Given the description of an element on the screen output the (x, y) to click on. 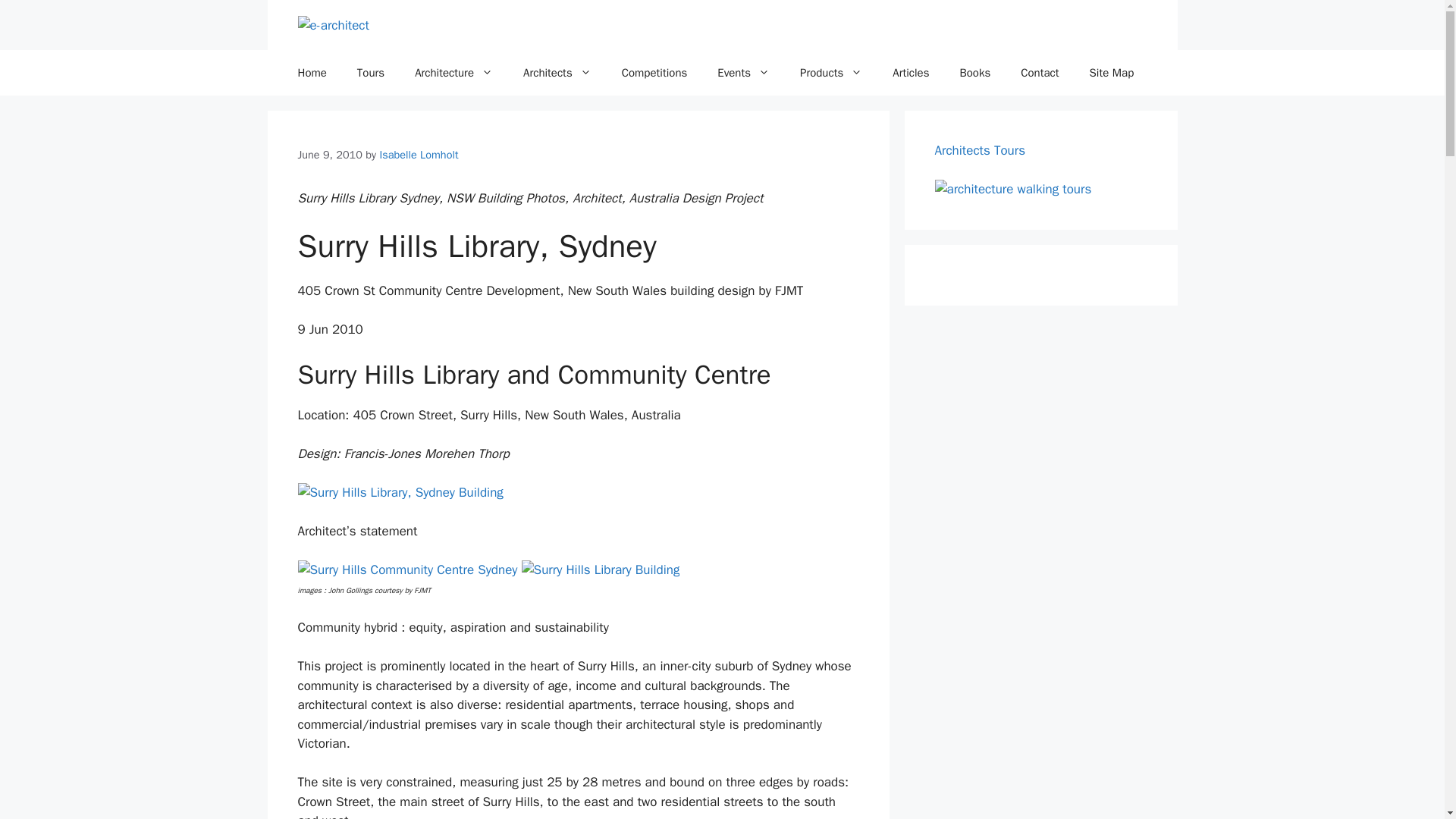
Events (742, 72)
Isabelle Lomholt (418, 154)
Products (830, 72)
Home (311, 72)
Architects (557, 72)
Architecture (453, 72)
Site Map (1112, 72)
Books (974, 72)
Tours (370, 72)
Home (311, 72)
View all posts by Isabelle Lomholt (418, 154)
Competitions (655, 72)
Articles (910, 72)
Contact (1040, 72)
